Given the description of an element on the screen output the (x, y) to click on. 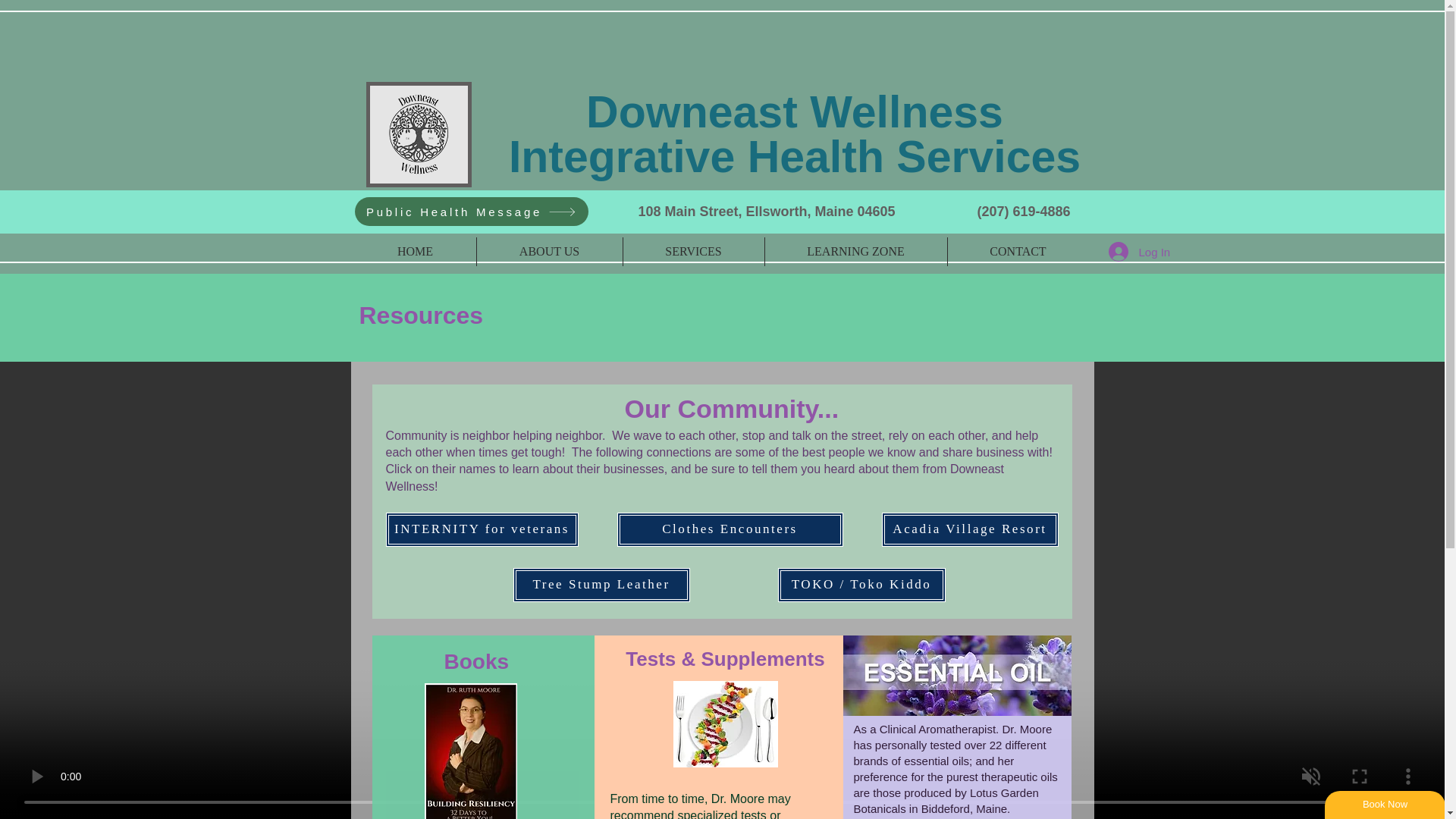
SERVICES (693, 251)
HOME (415, 251)
Integrative Health Services (794, 156)
ABOUT US (548, 251)
Acadia Village Resort (969, 529)
INTERNITY for veterans (481, 529)
Public Health Message (471, 211)
Tree Stump Leather (600, 584)
Log In (1135, 251)
CONTACT (1018, 251)
Clothes Encounters (730, 529)
LEARNING ZONE (855, 251)
Downeast Wellness (794, 111)
